Given the description of an element on the screen output the (x, y) to click on. 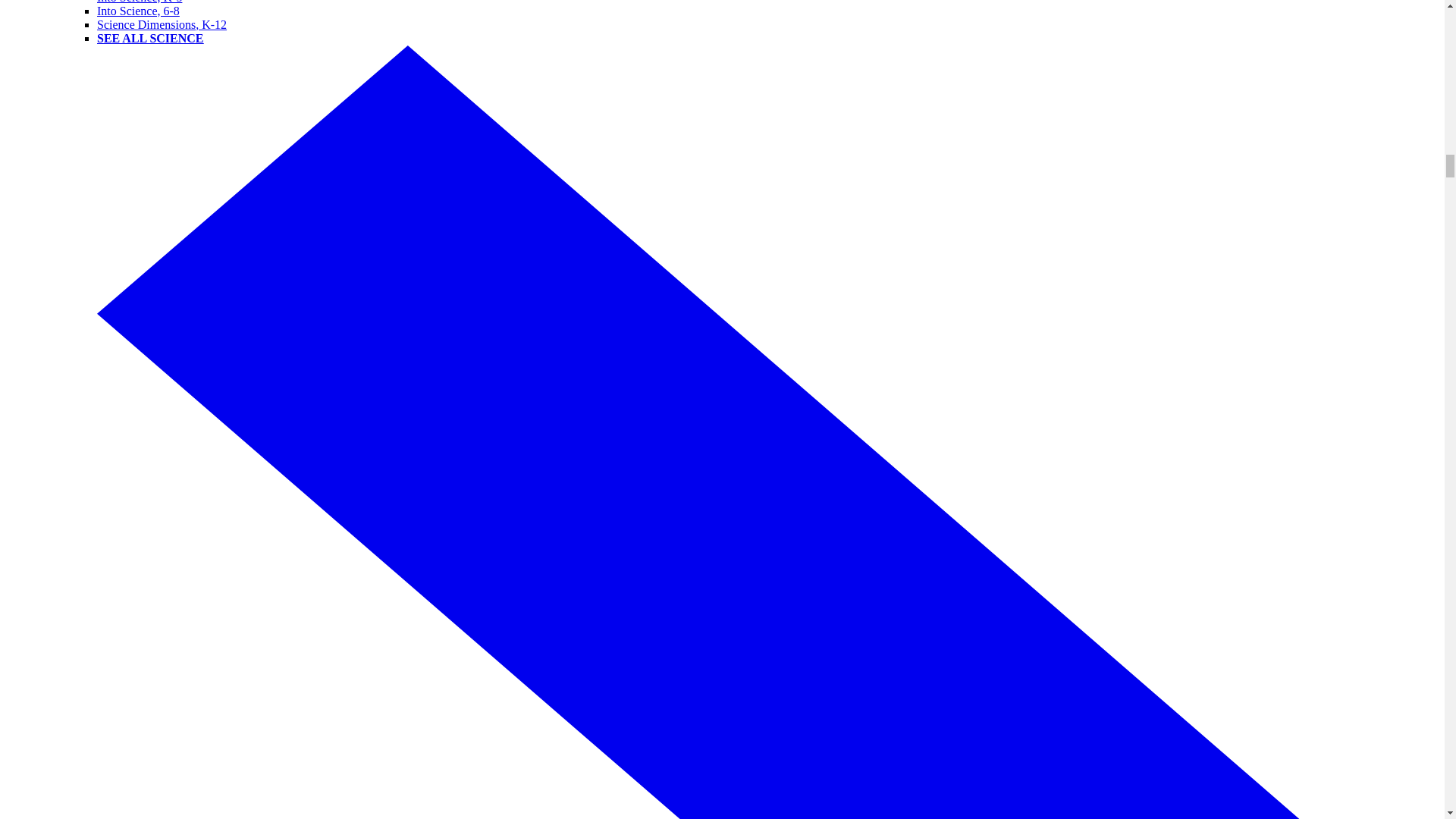
Into Science, 6-8 (138, 10)
Science Dimensions, K-12 (162, 24)
Into Science, K-5 (139, 2)
